Given the description of an element on the screen output the (x, y) to click on. 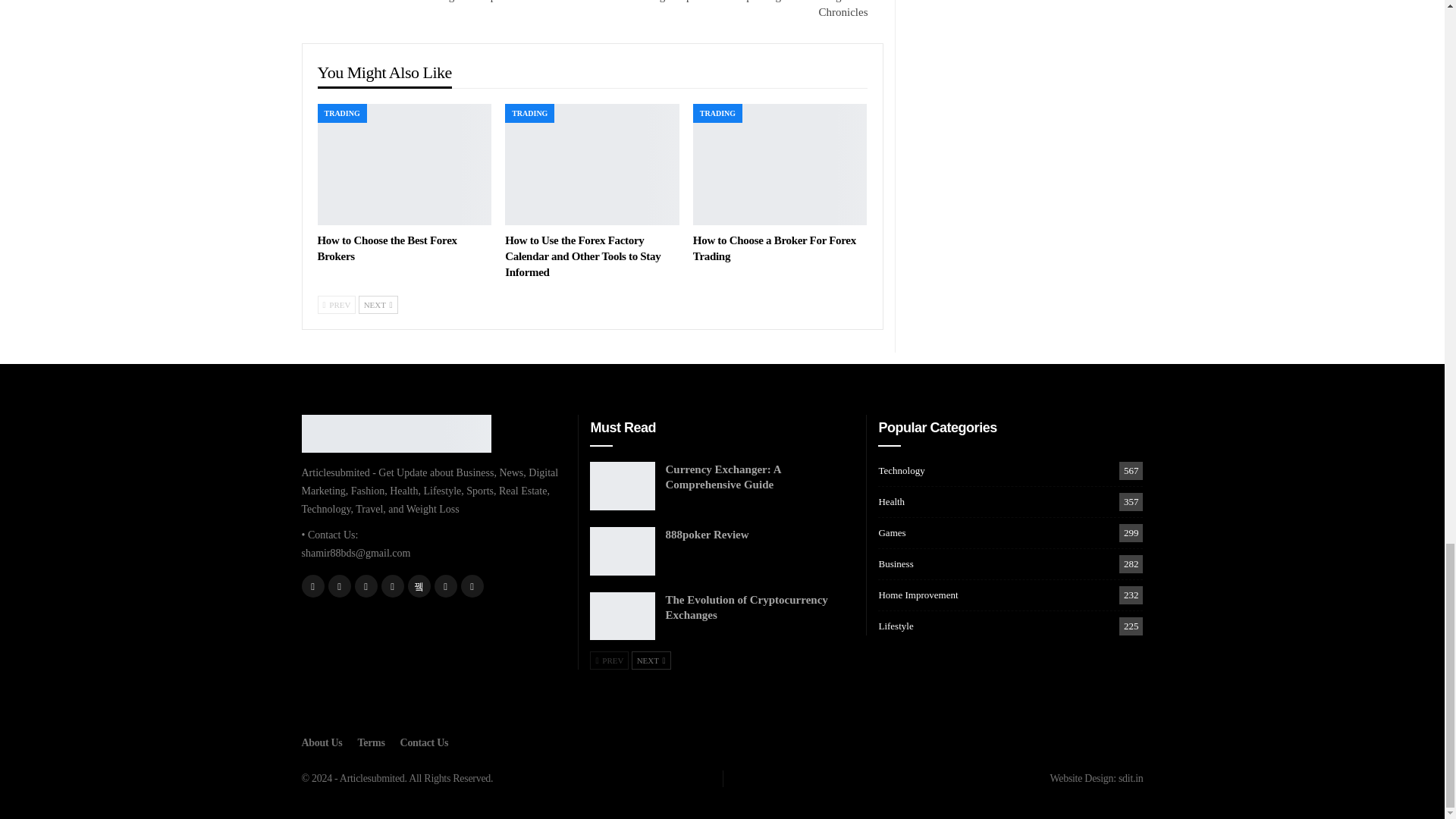
How to Choose a Broker For Forex Trading (774, 248)
How to Choose the Best Forex Brokers (387, 248)
How to Choose the Best Forex Brokers (404, 165)
How to Choose a Broker For Forex Trading (780, 165)
Previous (336, 304)
